Given the description of an element on the screen output the (x, y) to click on. 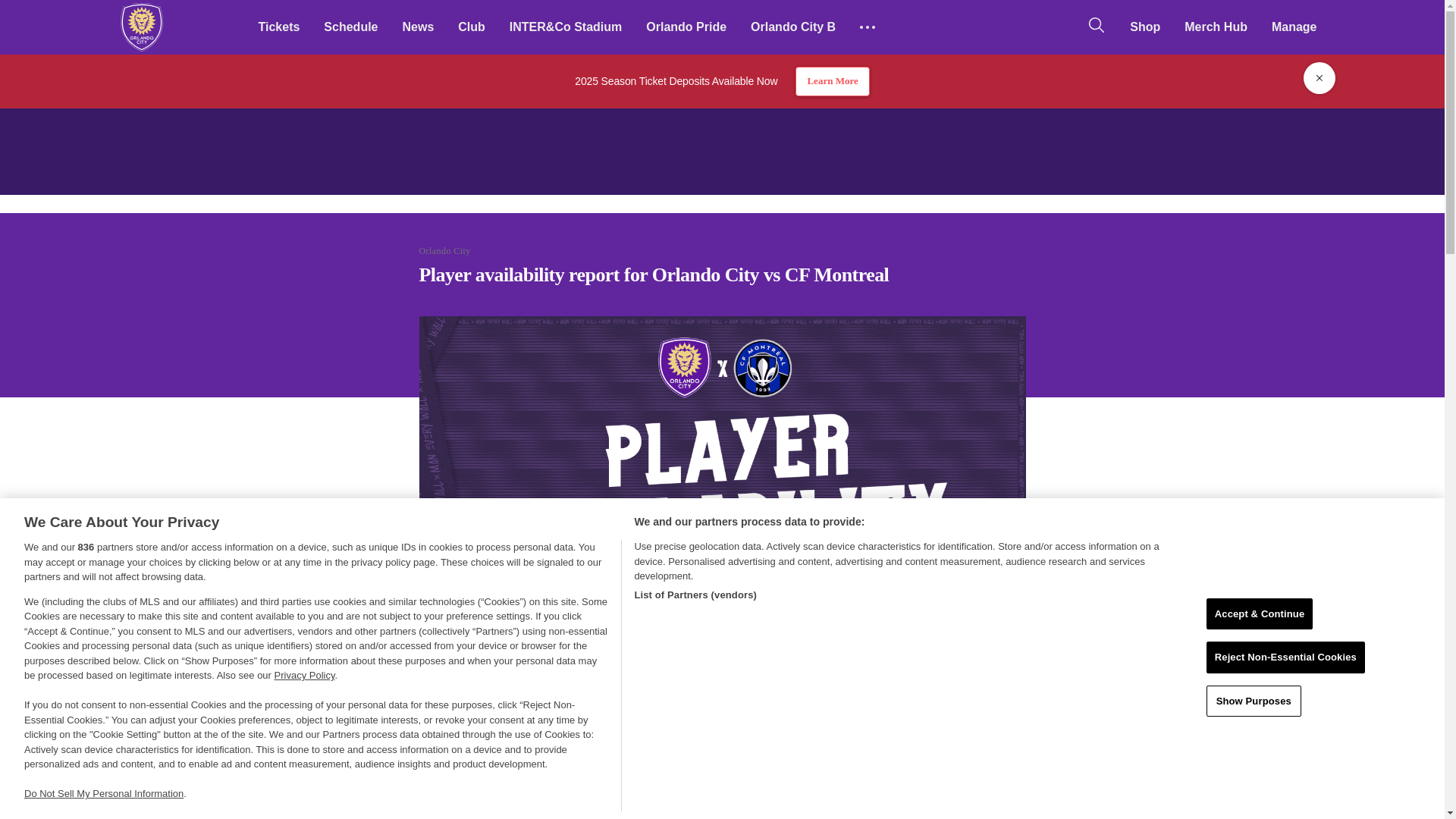
Merch Hub (1215, 26)
Schedule (350, 26)
Shop (1145, 26)
Tickets (278, 26)
Learn More (831, 81)
News (417, 26)
Manage (1294, 26)
Orlando City B (792, 26)
Club (471, 26)
Orlando Pride (685, 26)
Orlando City (141, 27)
